Given the description of an element on the screen output the (x, y) to click on. 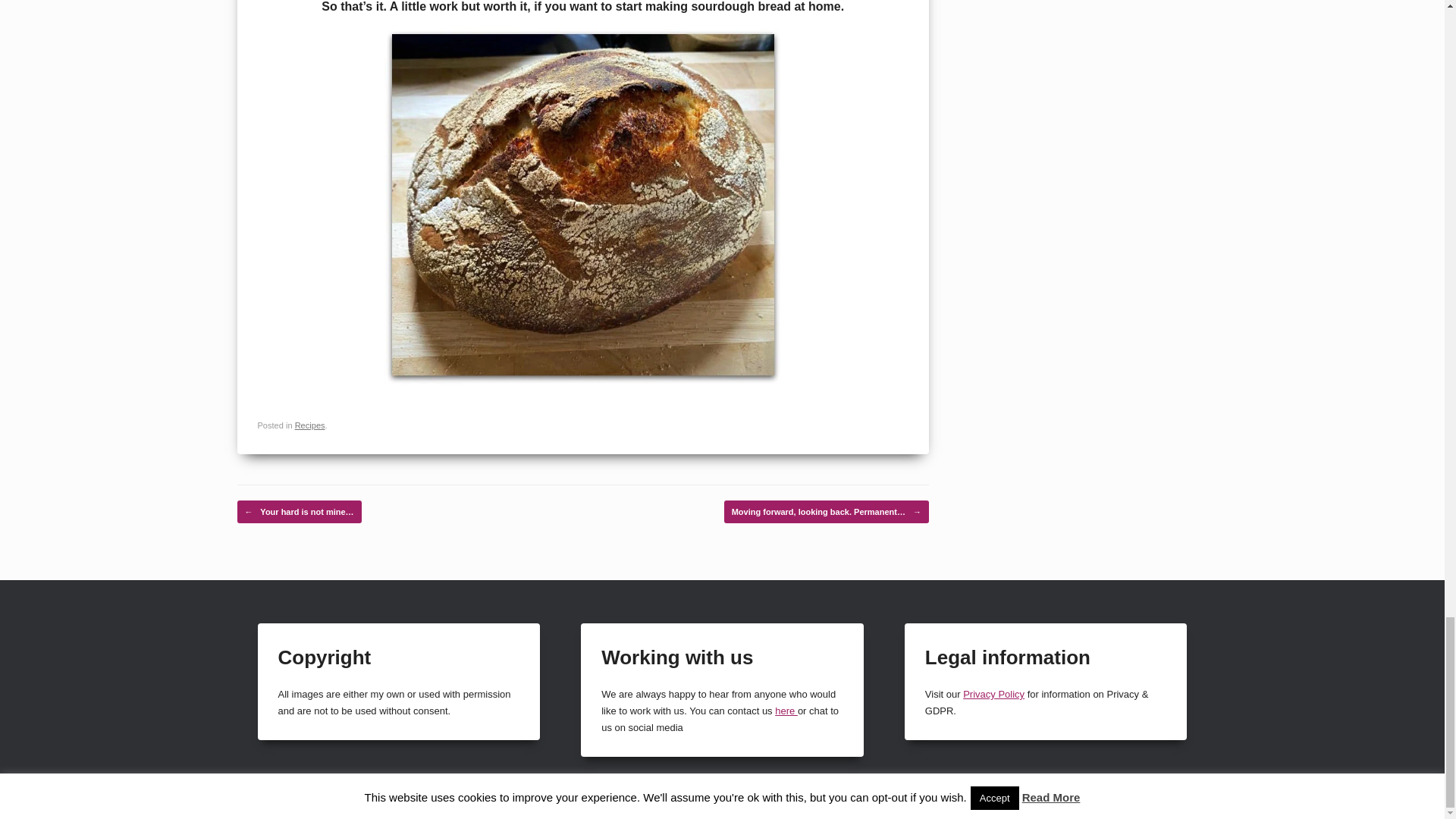
Privacy Policy (993, 694)
Gillyfleur (1366, 804)
Recipes (309, 424)
here (785, 710)
